Given the description of an element on the screen output the (x, y) to click on. 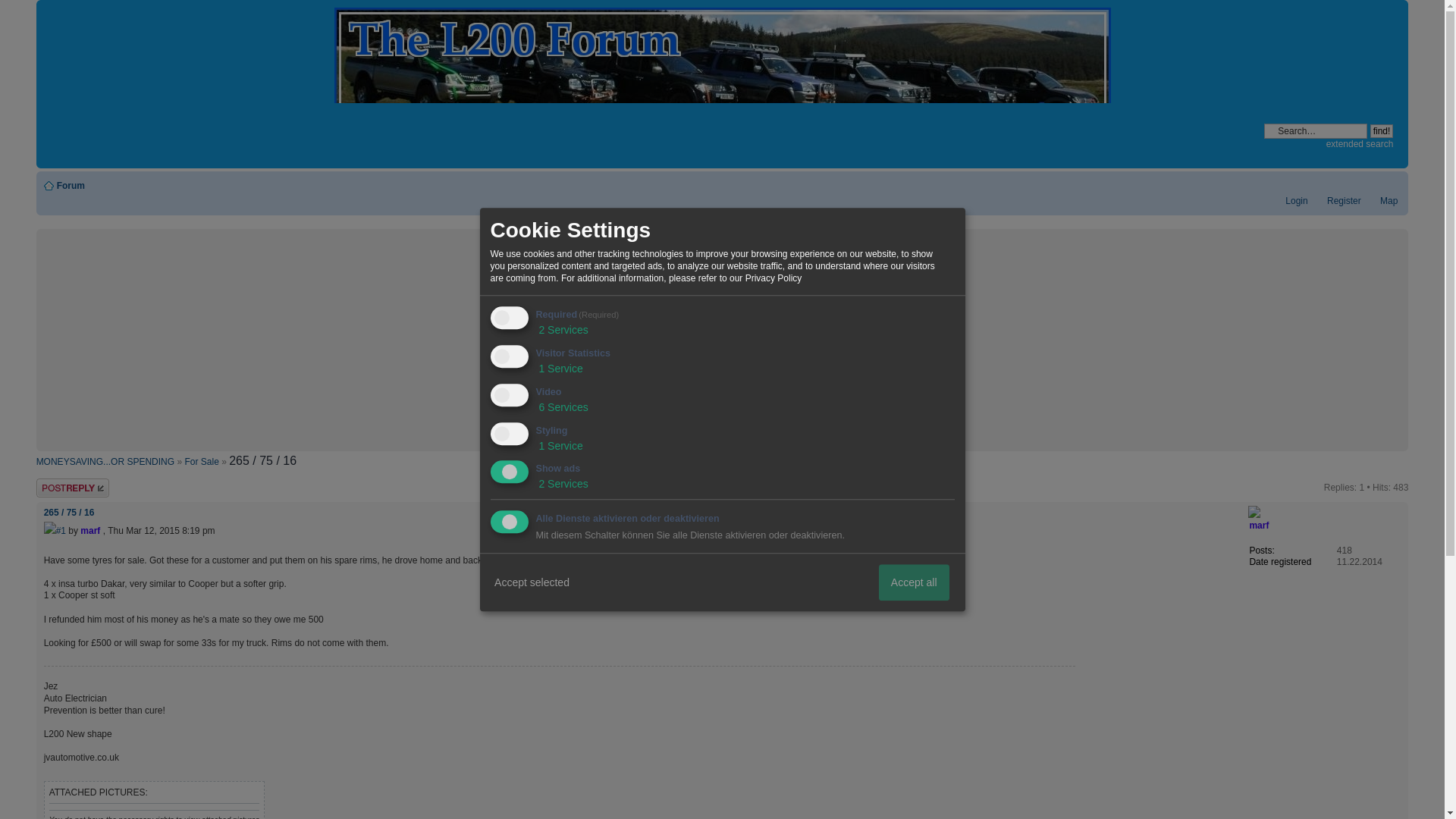
find! (1381, 131)
reply (82, 487)
extended search (1359, 143)
marf (90, 530)
1 Service (558, 368)
6 Services (561, 407)
extended search (1359, 143)
2 Services (561, 329)
Register (1337, 200)
marf (1258, 525)
Login (1289, 200)
find! (1381, 131)
Search (1315, 130)
MONEYSAVING...OR SPENDING (105, 461)
reply (82, 487)
